Given the description of an element on the screen output the (x, y) to click on. 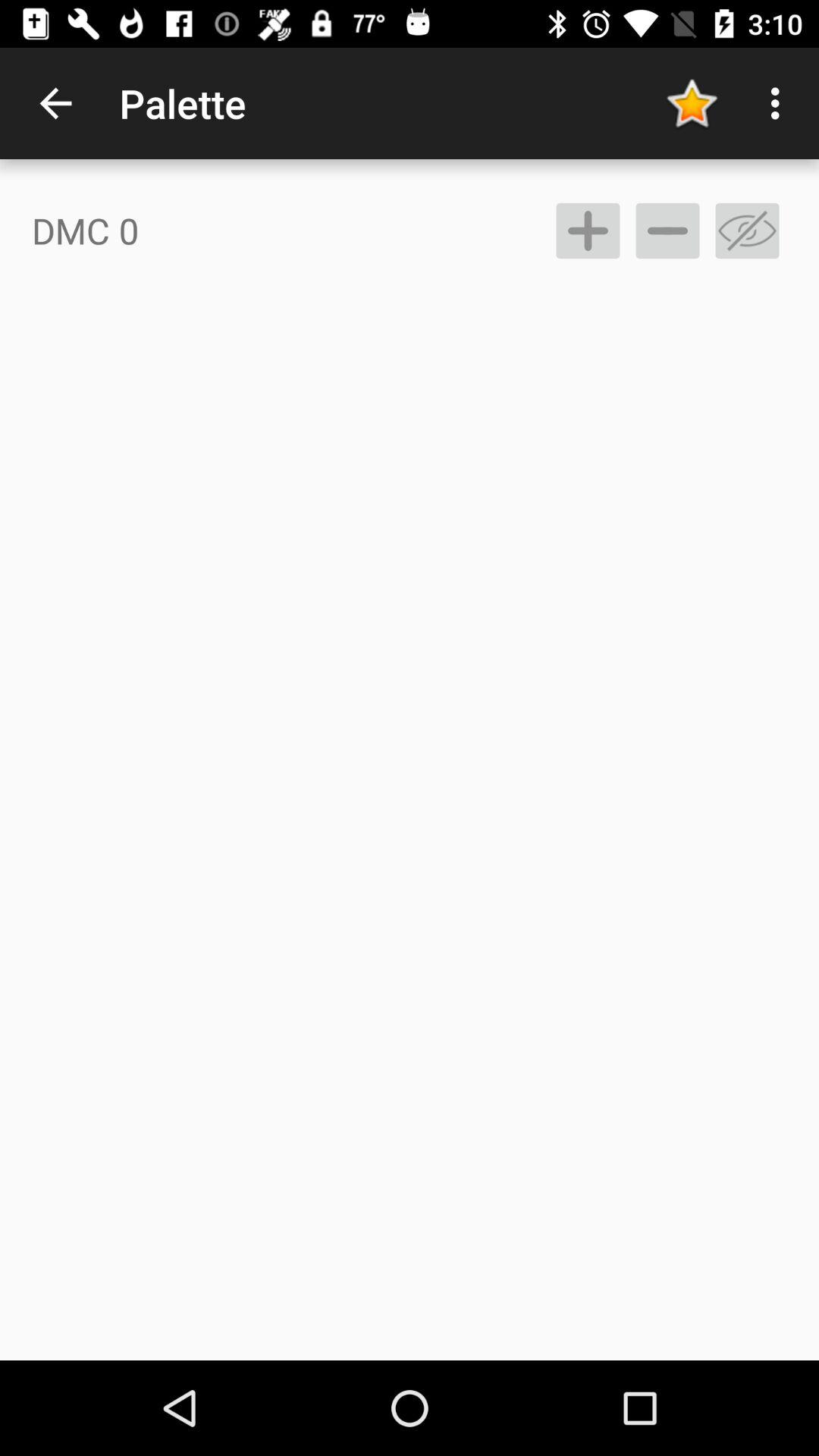
remove (667, 230)
